Given the description of an element on the screen output the (x, y) to click on. 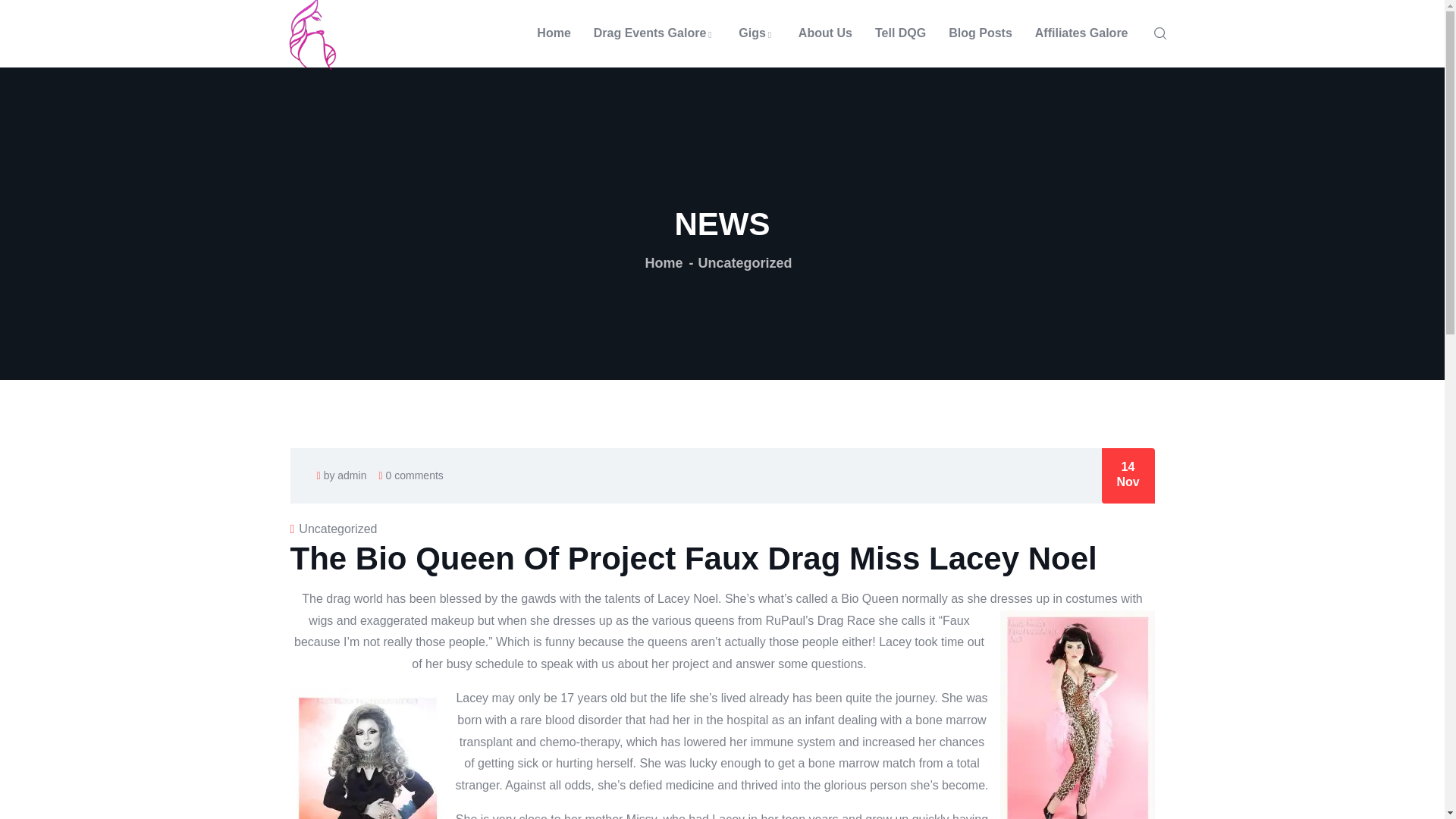
Blog Posts (980, 33)
Tell DQG (900, 33)
Drag Events Galore (655, 33)
Uncategorized (744, 263)
Uncategorized (337, 528)
Affiliates Galore (1081, 33)
About Us (825, 33)
Home (663, 263)
